Given the description of an element on the screen output the (x, y) to click on. 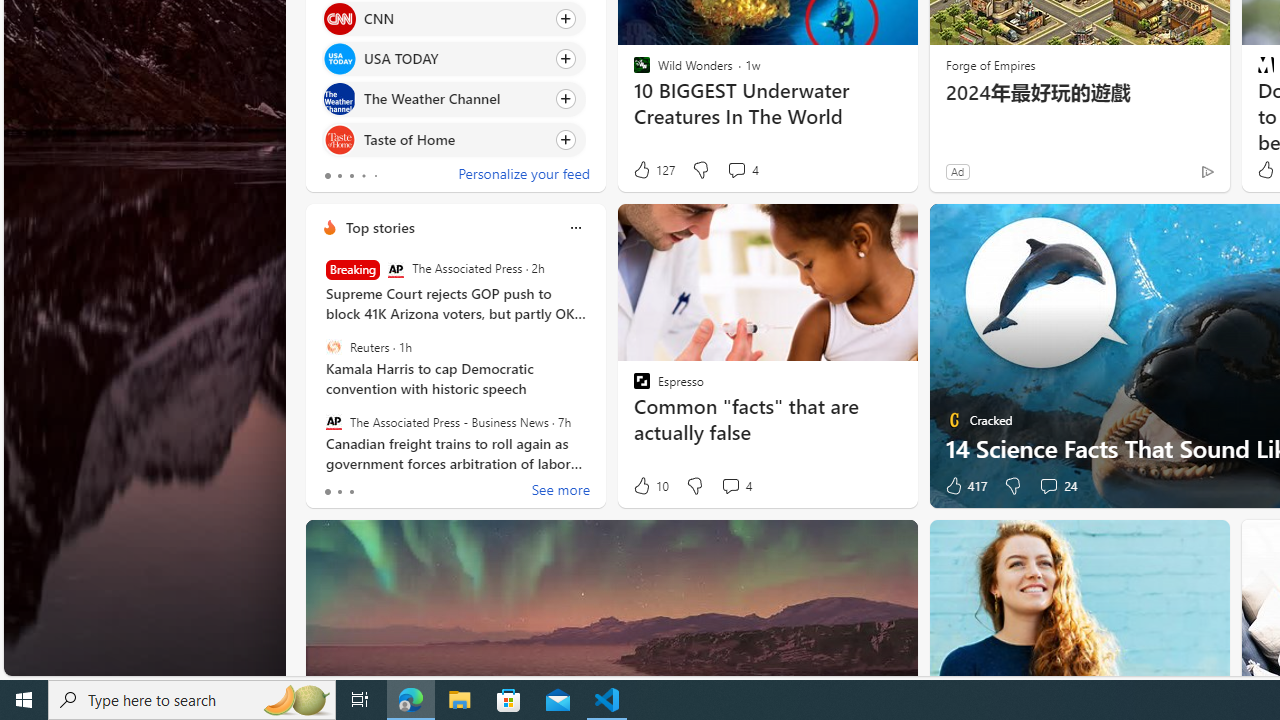
417 Like (964, 485)
View comments 24 Comment (1048, 485)
View comments 4 Comment (735, 485)
Click to follow source USA TODAY (453, 59)
Click to follow source The Weather Channel (453, 99)
View comments 24 Comment (1057, 485)
tab-0 (327, 491)
Click to follow source CNN (453, 18)
The Associated Press - Business News (333, 421)
USA TODAY (338, 59)
